Given the description of an element on the screen output the (x, y) to click on. 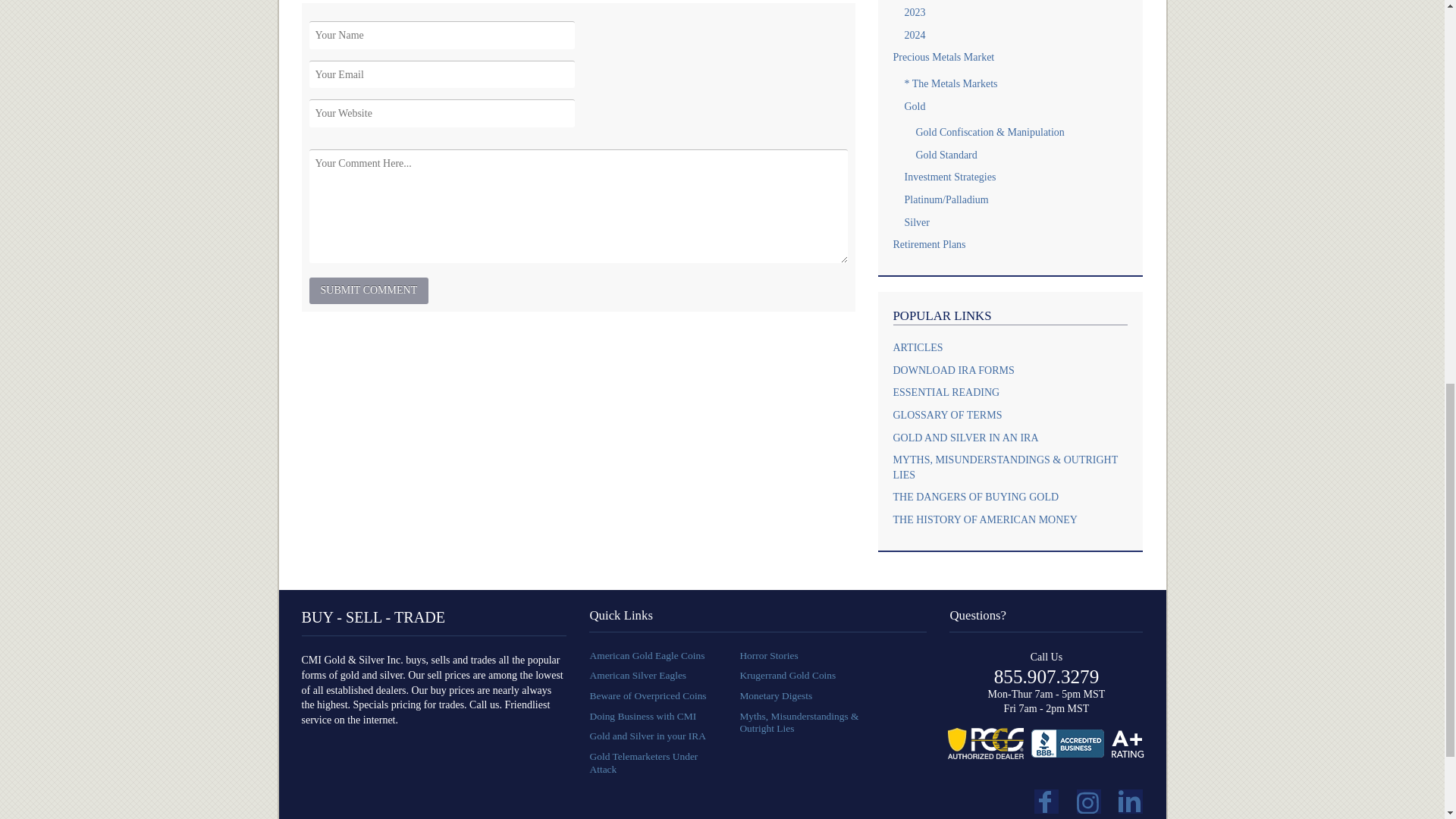
Submit Comment (368, 290)
